Given the description of an element on the screen output the (x, y) to click on. 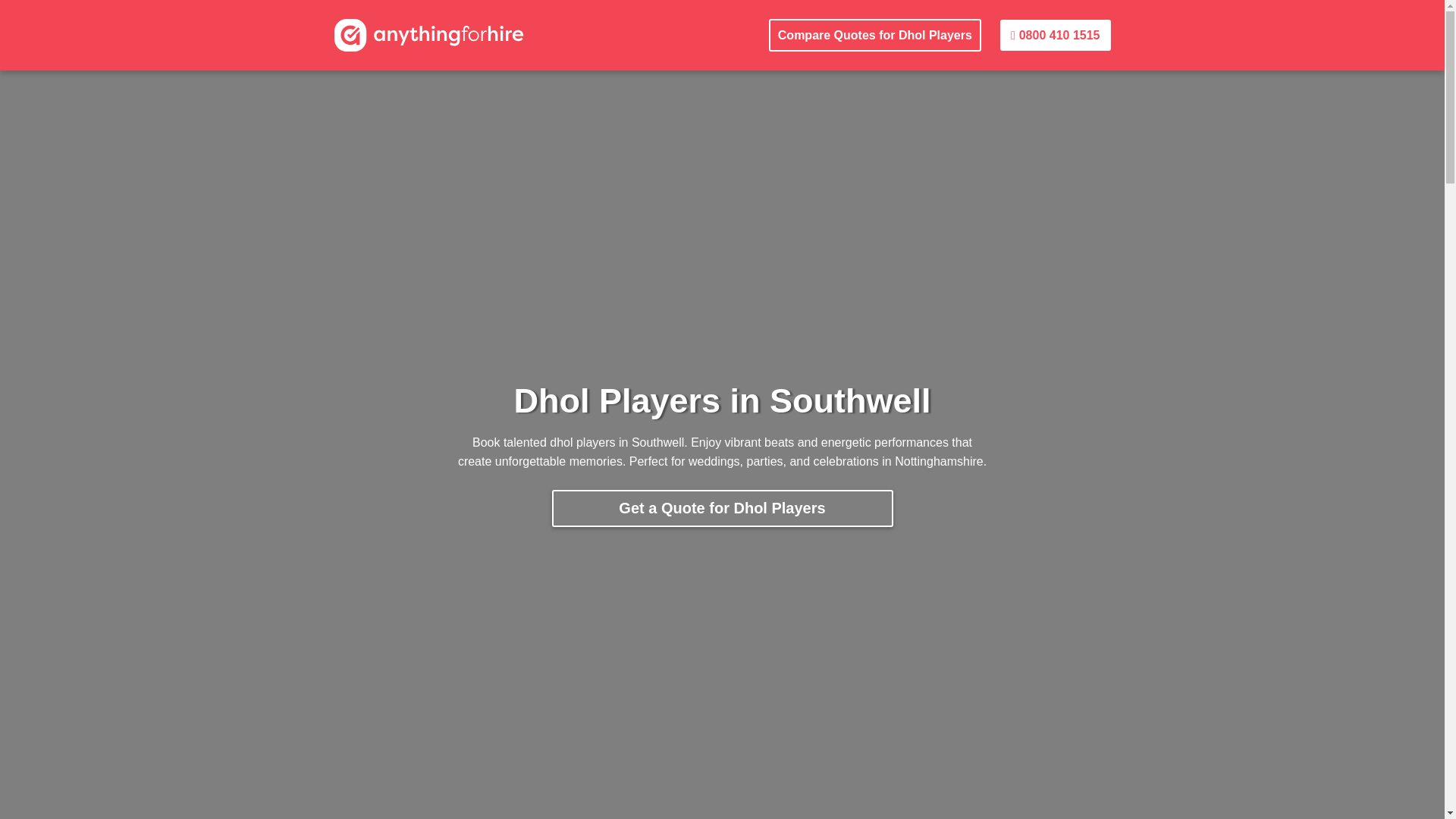
AFH Logo (427, 33)
Get quotes for Dhol Players in Southwell (874, 34)
Compare Quotes for Dhol Players (874, 34)
0800 410 1515 (1055, 34)
Compare prices for Dhol Players (722, 508)
Dhol Players in Southwell (427, 34)
Get a Quote for Dhol Players (722, 508)
Call Us (1055, 34)
